Given the description of an element on the screen output the (x, y) to click on. 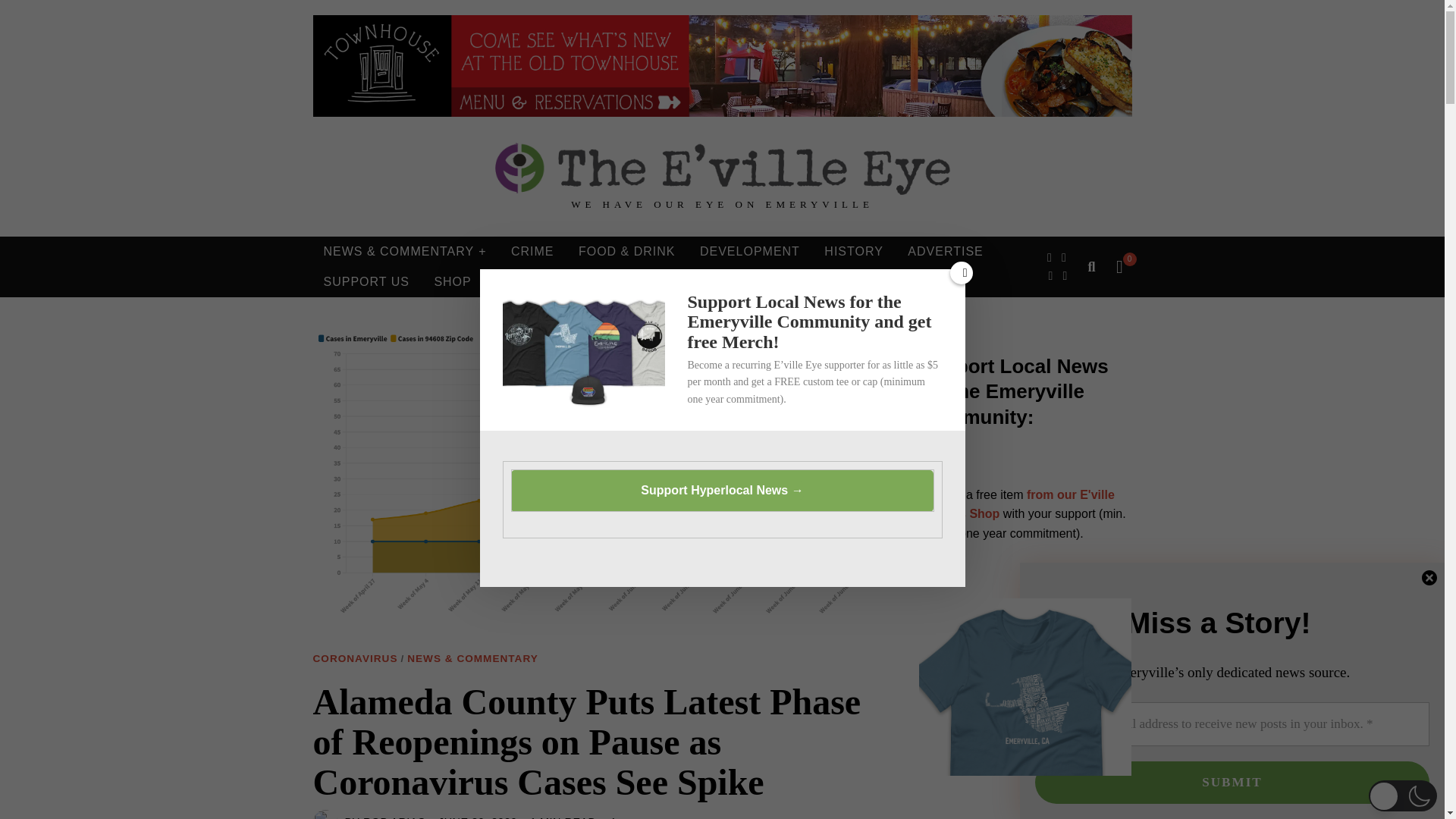
ROB ARIAS (393, 817)
ADVERTISE (944, 251)
SUPPORT US (366, 281)
CORONAVIRUS (355, 658)
Townhouse - Evergreen Leaderboard (722, 66)
CRIME (532, 251)
Submit (1232, 782)
0 (1118, 266)
DEVELOPMENT (749, 251)
SHOP (452, 281)
HISTORY (853, 251)
4 (612, 816)
